Given the description of an element on the screen output the (x, y) to click on. 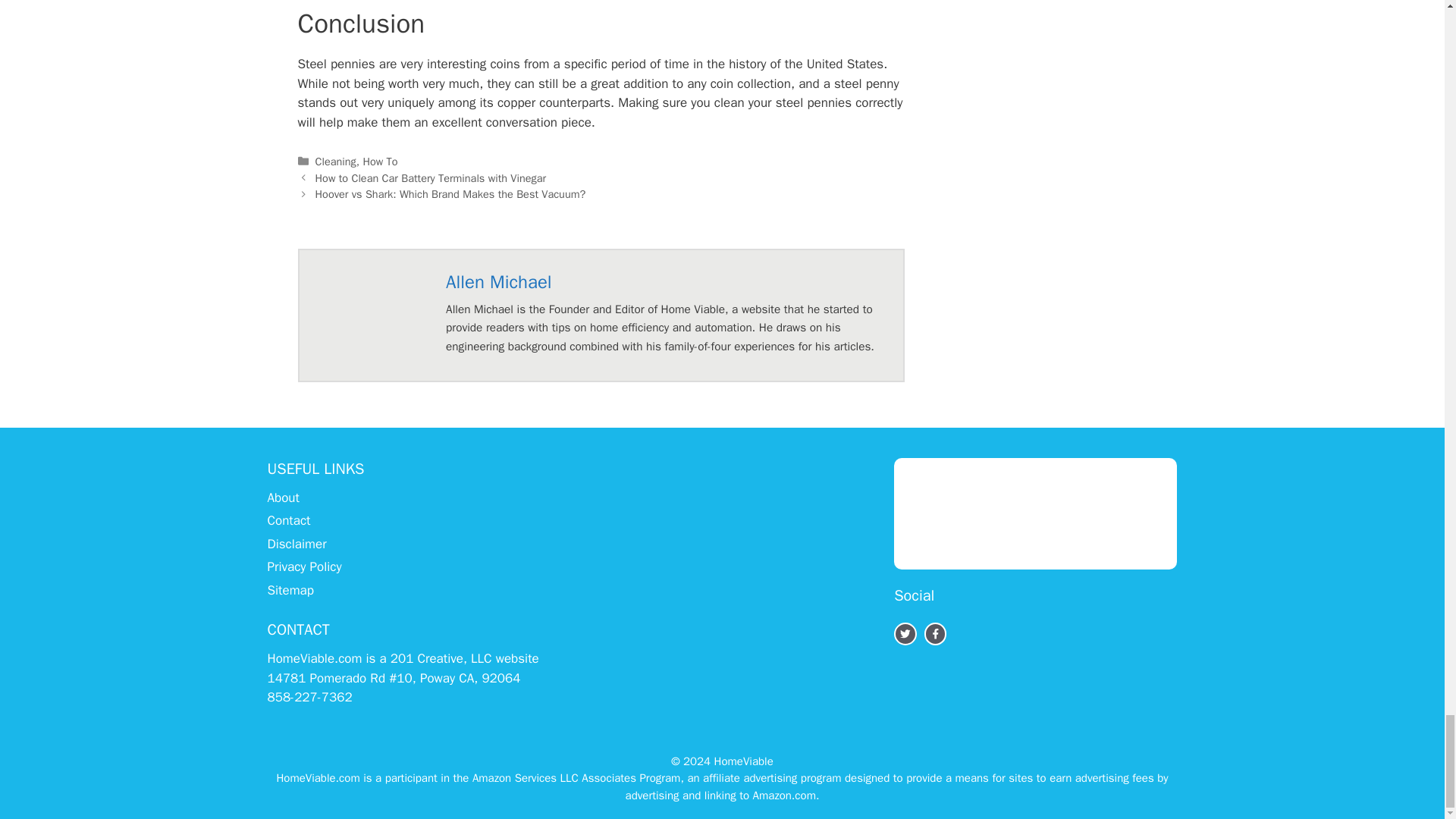
Author Links (498, 281)
Cleaning (335, 161)
How To (379, 161)
